Given the description of an element on the screen output the (x, y) to click on. 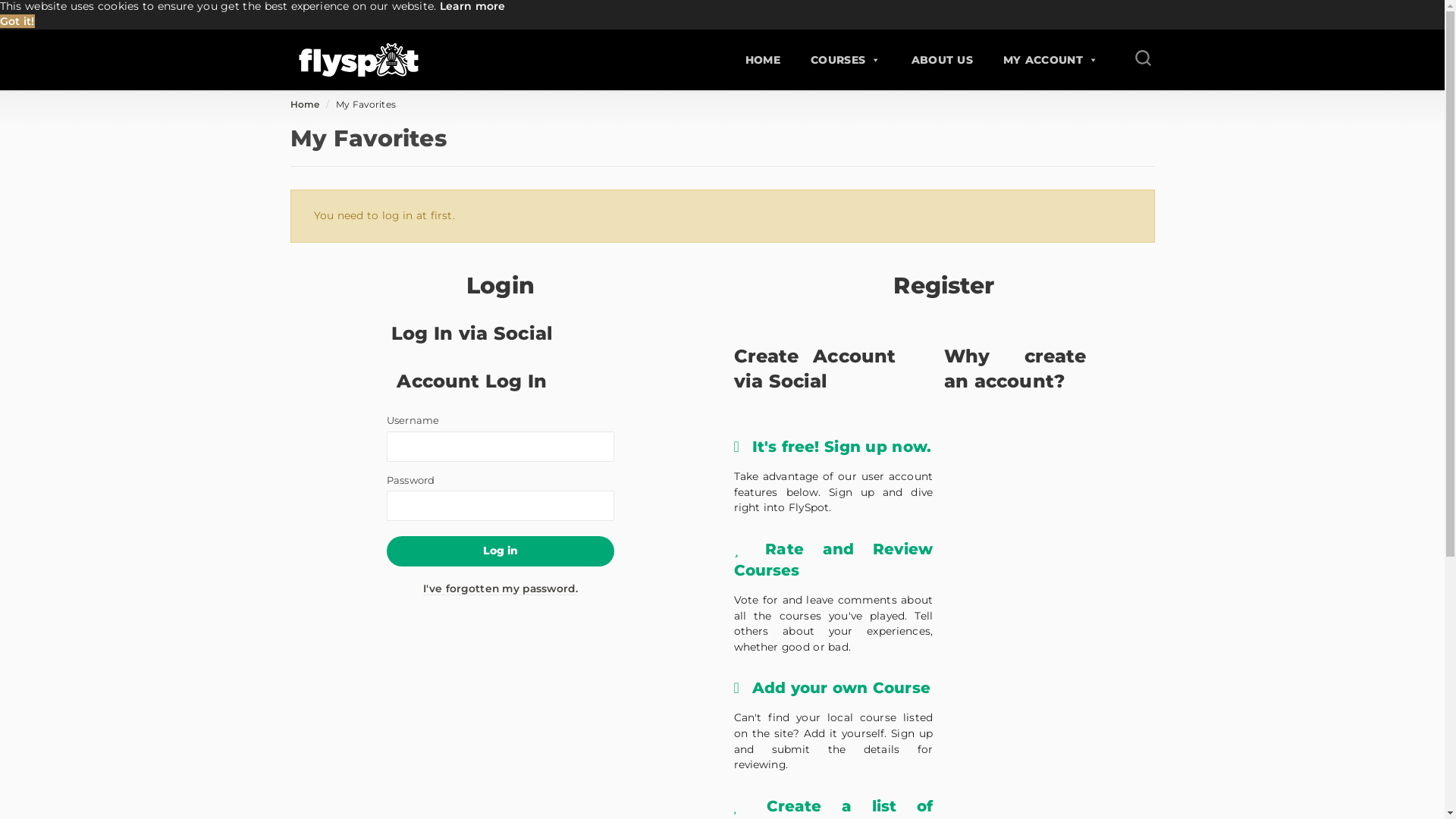
I've forgotten my password. Element type: text (500, 588)
Search for a course Element type: hover (1141, 59)
COURSES Element type: text (845, 59)
MY ACCOUNT Element type: text (1050, 59)
Got it! Element type: text (17, 21)
ABOUT US Element type: text (942, 59)
HOME Element type: text (761, 59)
Home Element type: text (304, 103)
Log in Element type: text (500, 551)
